Given the description of an element on the screen output the (x, y) to click on. 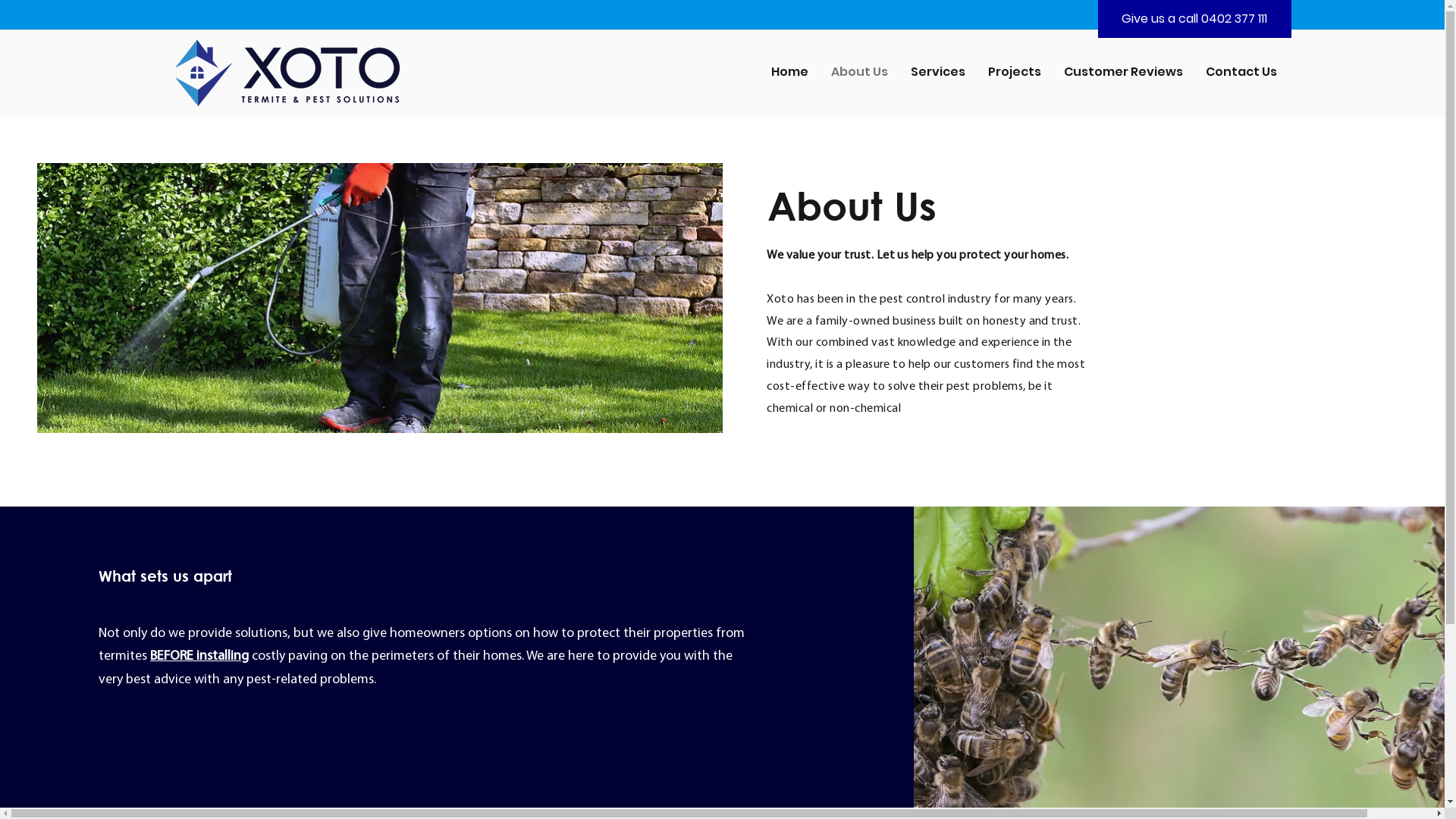
Contact Us Element type: text (1241, 71)
Services Element type: text (937, 71)
Home Element type: text (789, 71)
Customer Reviews Element type: text (1123, 71)
About Us Element type: text (859, 71)
Give us a call 0402 377 111 Element type: text (1194, 18)
Projects Element type: text (1014, 71)
